Given the description of an element on the screen output the (x, y) to click on. 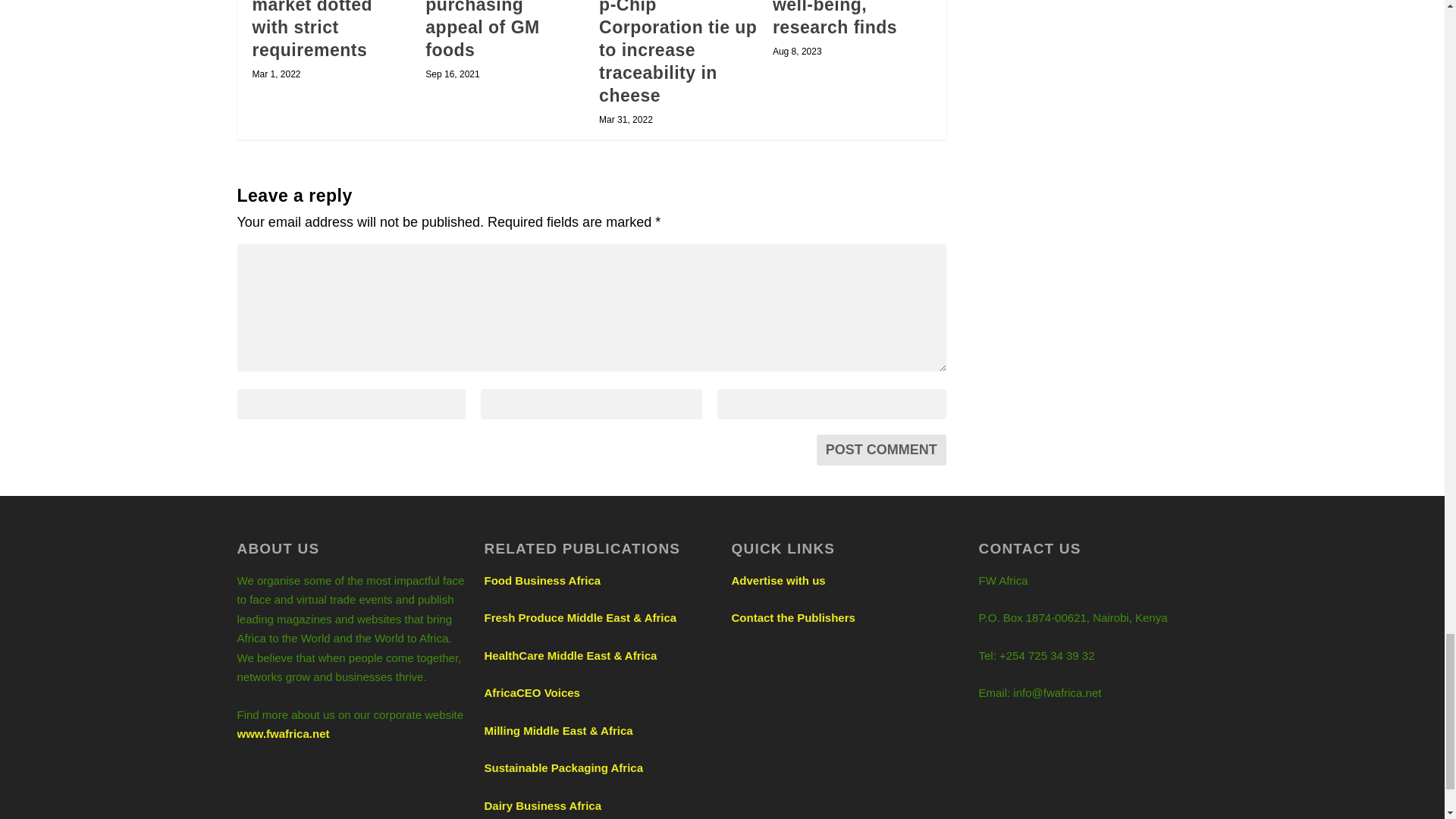
Post Comment (881, 450)
